Given the description of an element on the screen output the (x, y) to click on. 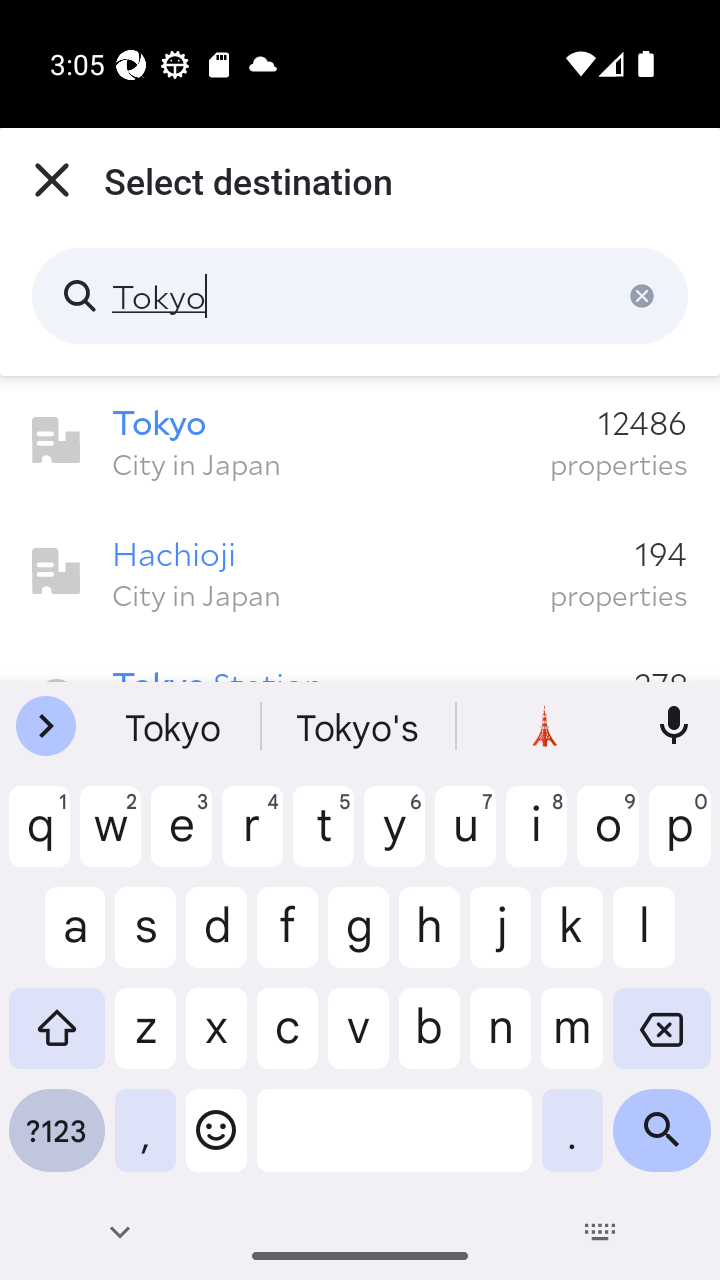
Tokyo (359, 296)
Tokyo 12486 City in Japan properties (360, 441)
Hachioji 194 City in Japan properties (360, 571)
